Given the description of an element on the screen output the (x, y) to click on. 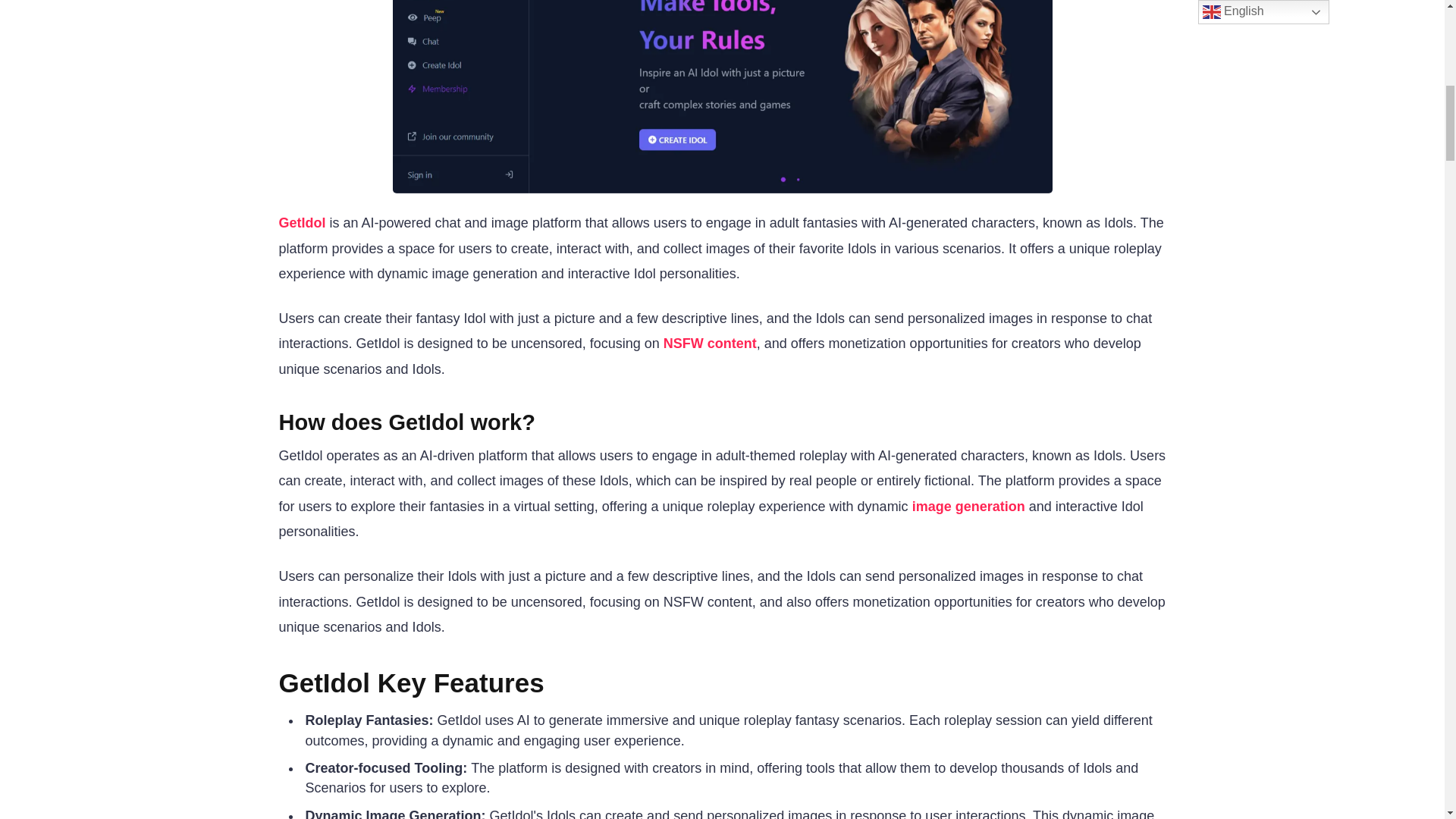
GetIdol (304, 222)
NSFW content (710, 343)
image generation (968, 506)
